Given the description of an element on the screen output the (x, y) to click on. 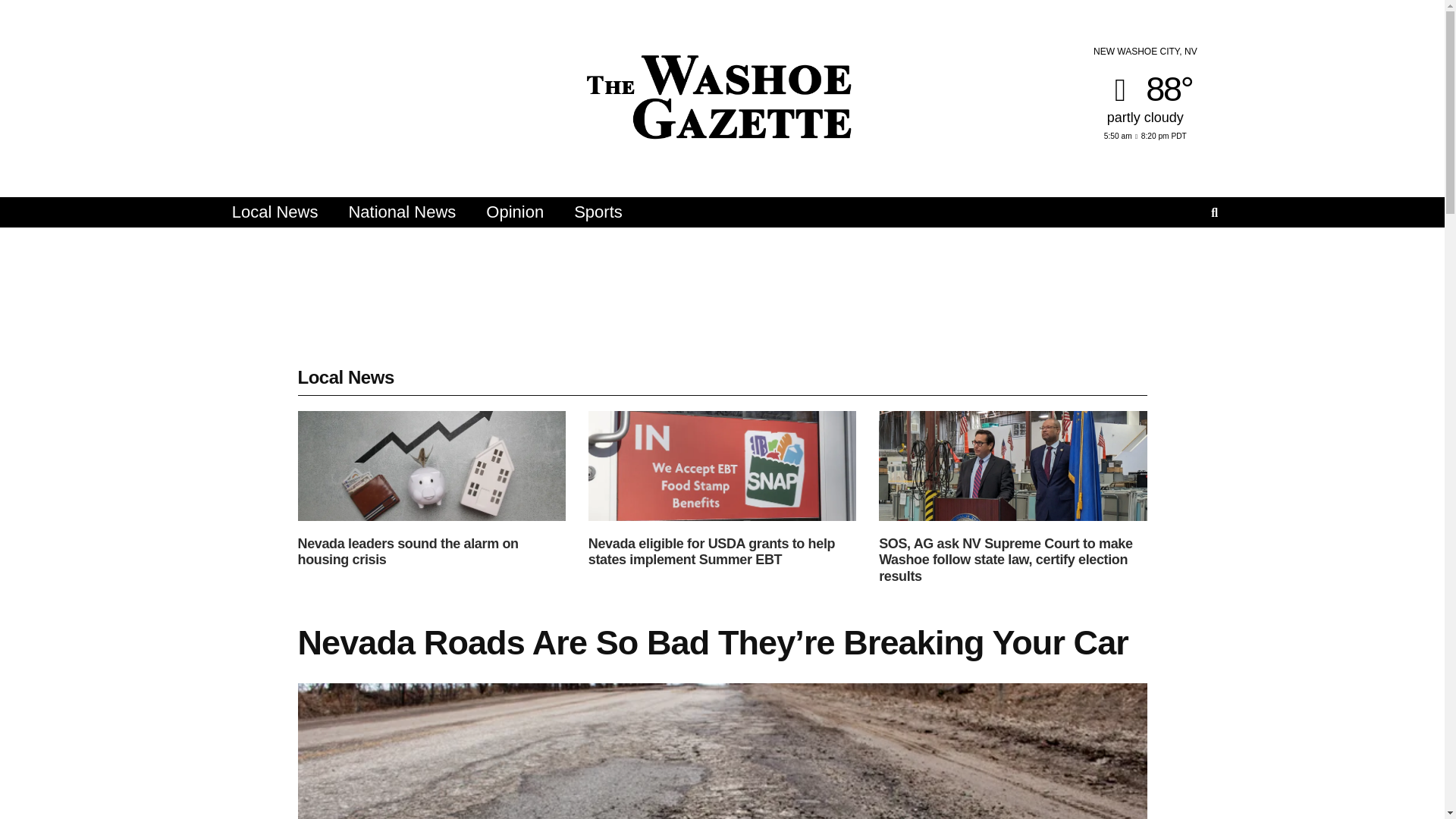
National News (401, 212)
Opinion (514, 212)
Nevada leaders sound the alarm on housing crisis (407, 552)
Sports (598, 212)
Local News (274, 212)
